Given the description of an element on the screen output the (x, y) to click on. 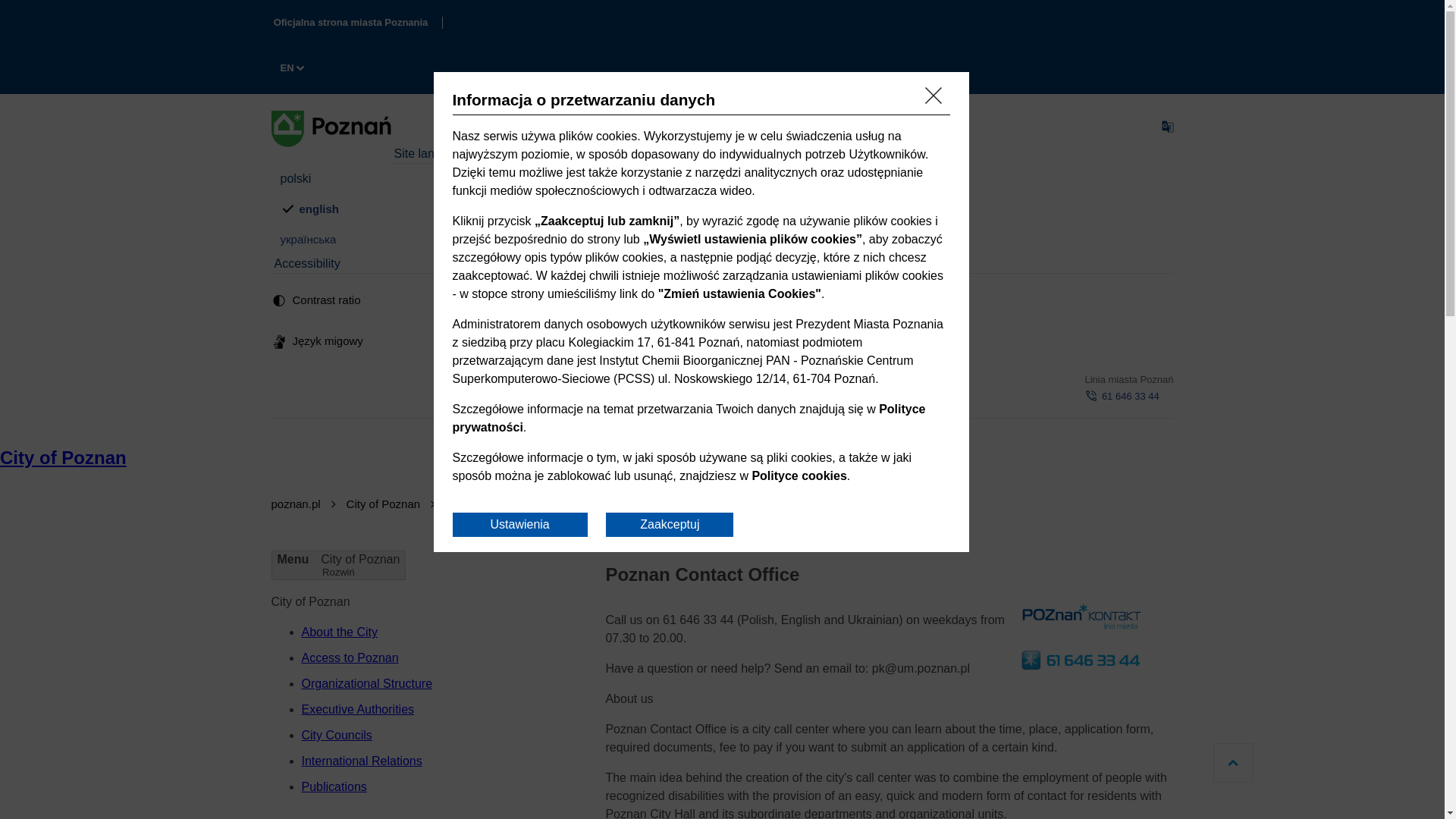
Oficjalna strona miasta Poznania (349, 22)
Multimedia City Guide (295, 504)
